Given the description of an element on the screen output the (x, y) to click on. 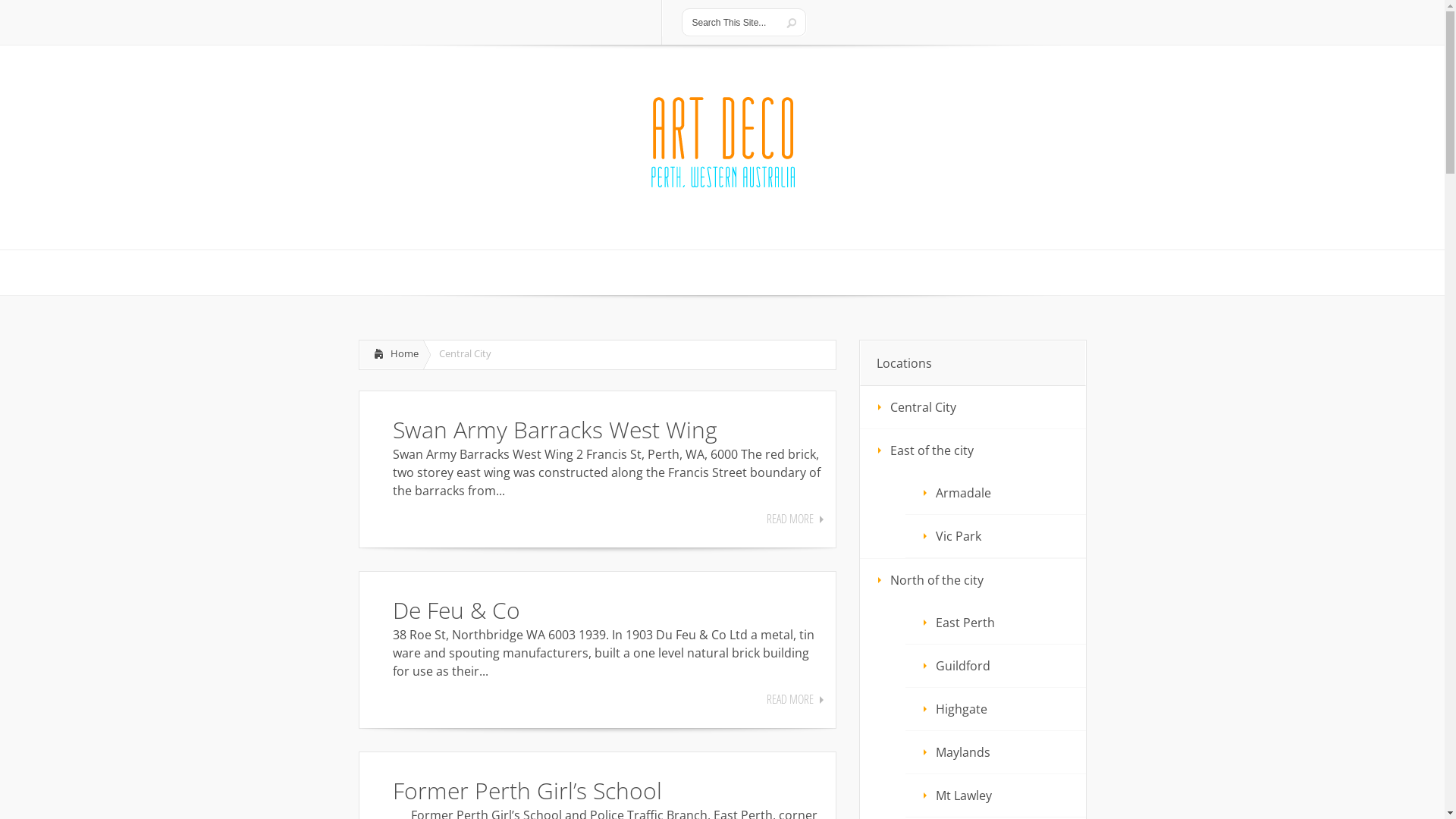
Highgate Element type: text (995, 708)
Mt Lawley Element type: text (995, 795)
Vic Park Element type: text (995, 535)
East Perth Element type: text (995, 622)
READ MORE Element type: text (794, 699)
De Feu & Co Element type: text (456, 609)
North of the city Element type: text (972, 579)
Swan Army Barracks West Wing Element type: text (554, 429)
Maylands Element type: text (995, 752)
Central City Element type: text (972, 406)
Home Element type: text (390, 354)
Armadale Element type: text (995, 492)
Guildford Element type: text (995, 665)
READ MORE Element type: text (794, 518)
East of the city Element type: text (972, 450)
